Given the description of an element on the screen output the (x, y) to click on. 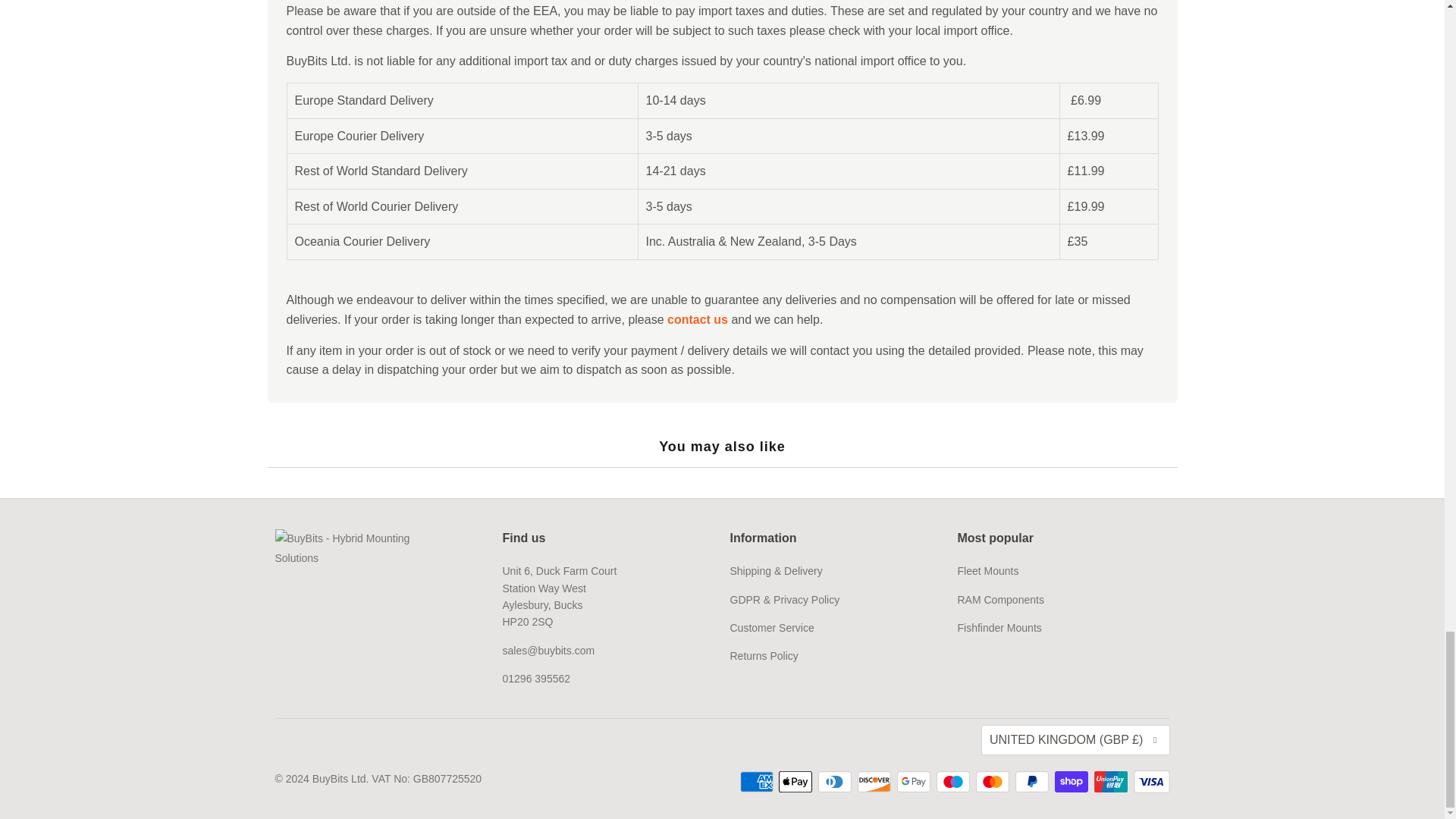
Apple Pay (796, 781)
Union Pay (1112, 781)
PayPal (1032, 781)
Diners Club (836, 781)
American Express (757, 781)
Maestro (954, 781)
Discover (875, 781)
Visa (1150, 781)
Mastercard (993, 781)
Shop Pay (1072, 781)
Contact Us (697, 318)
Google Pay (914, 781)
